Given the description of an element on the screen output the (x, y) to click on. 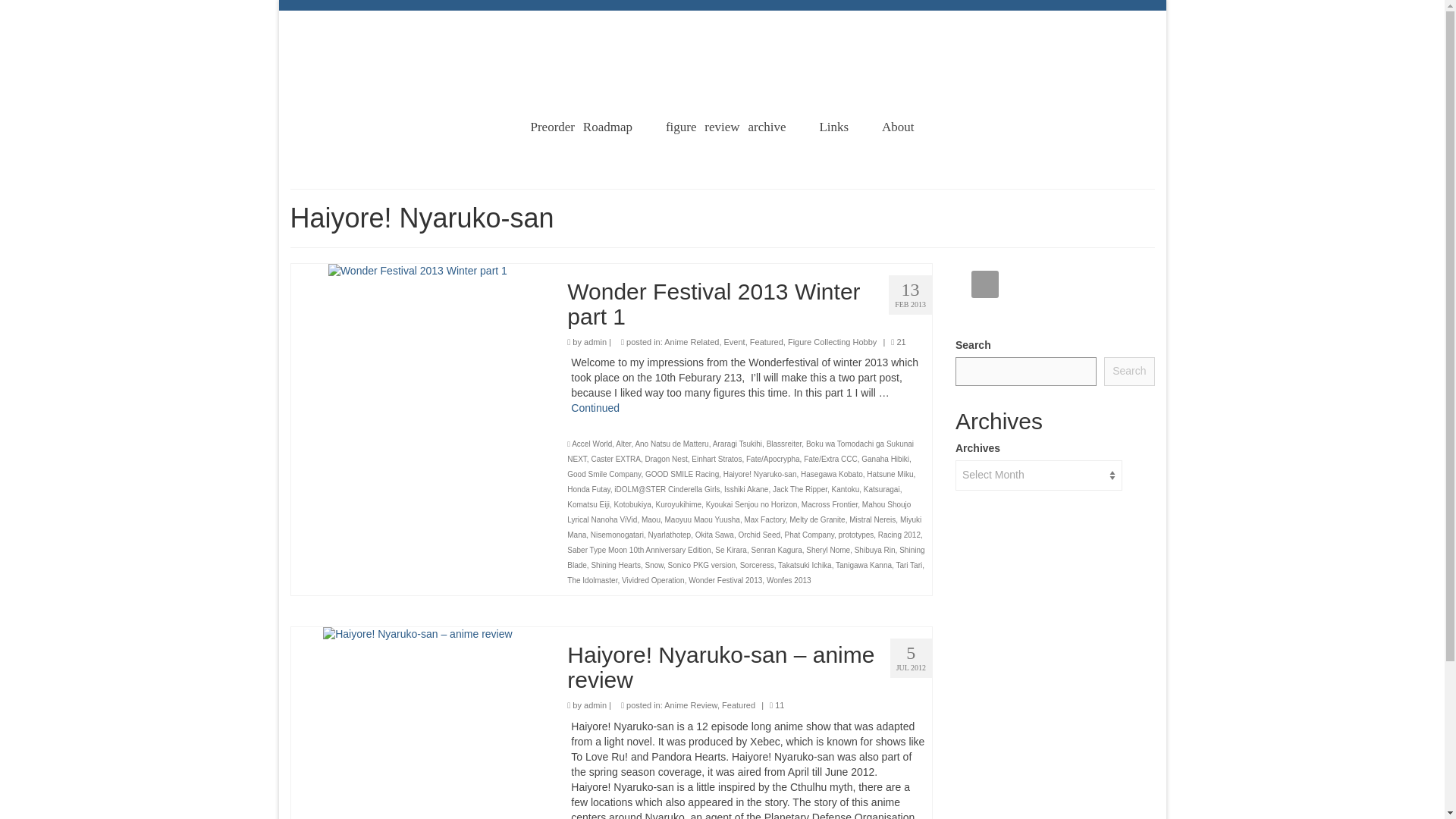
figure review archive (726, 127)
Preorder Roadmap (581, 127)
wieselhead.de (724, 32)
About (898, 127)
Wonder Festival 2013 Winter part 1 (417, 270)
Links (833, 127)
